Given the description of an element on the screen output the (x, y) to click on. 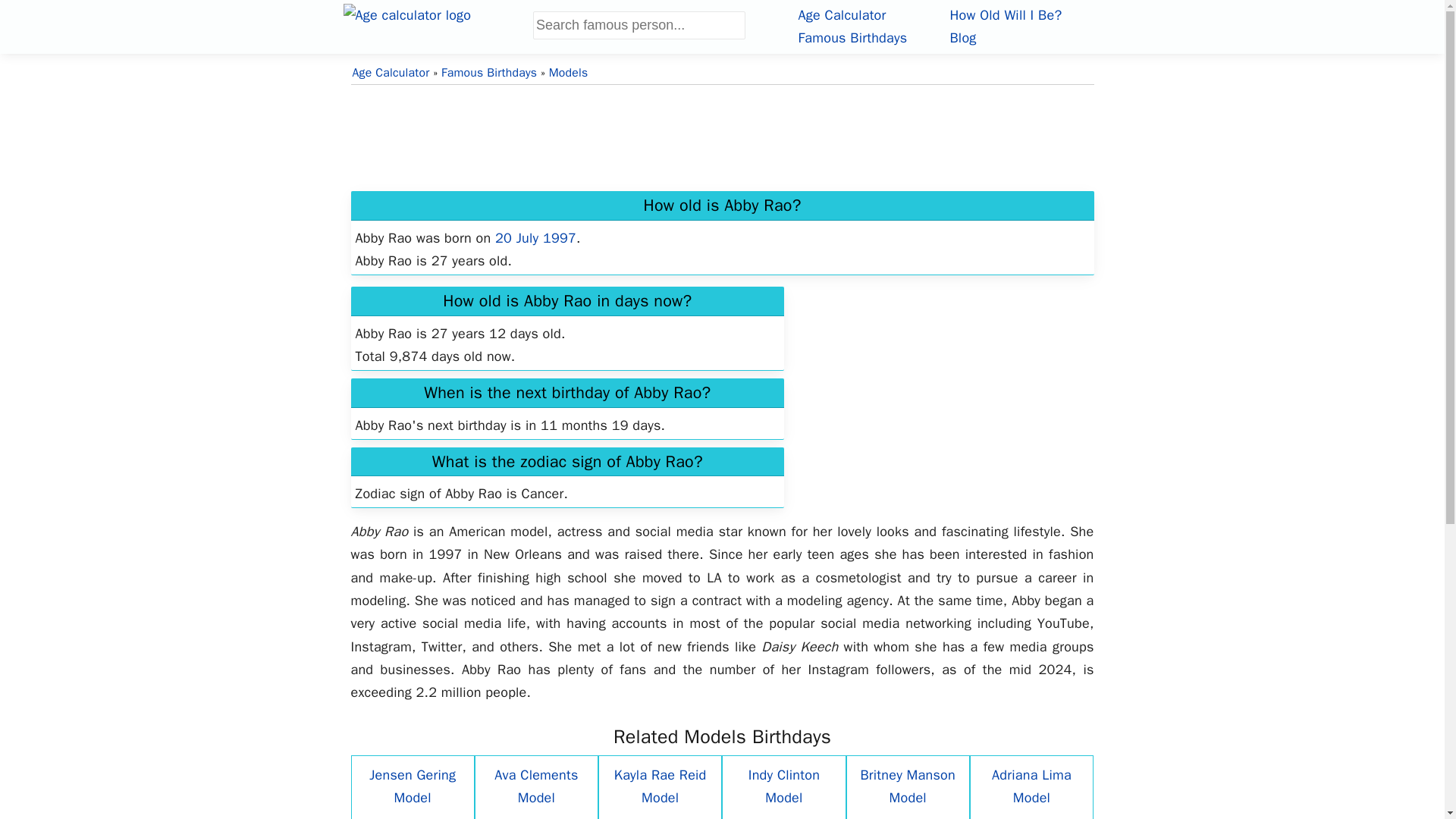
Age Calculator (841, 14)
Age Calculator (390, 72)
Age Calculator (841, 14)
20 July 1997 (535, 238)
How Old Will I Be? (1005, 14)
How Old Will I Be In The Future? (1005, 14)
Age Calculator (437, 24)
Famous Birthdays (489, 72)
July 20 Famous Birthdays (535, 238)
Blog (962, 37)
Famous Birthdays (852, 37)
Age Calculator Blog (962, 37)
Famous Birthdays (852, 37)
Models (568, 72)
